Given the description of an element on the screen output the (x, y) to click on. 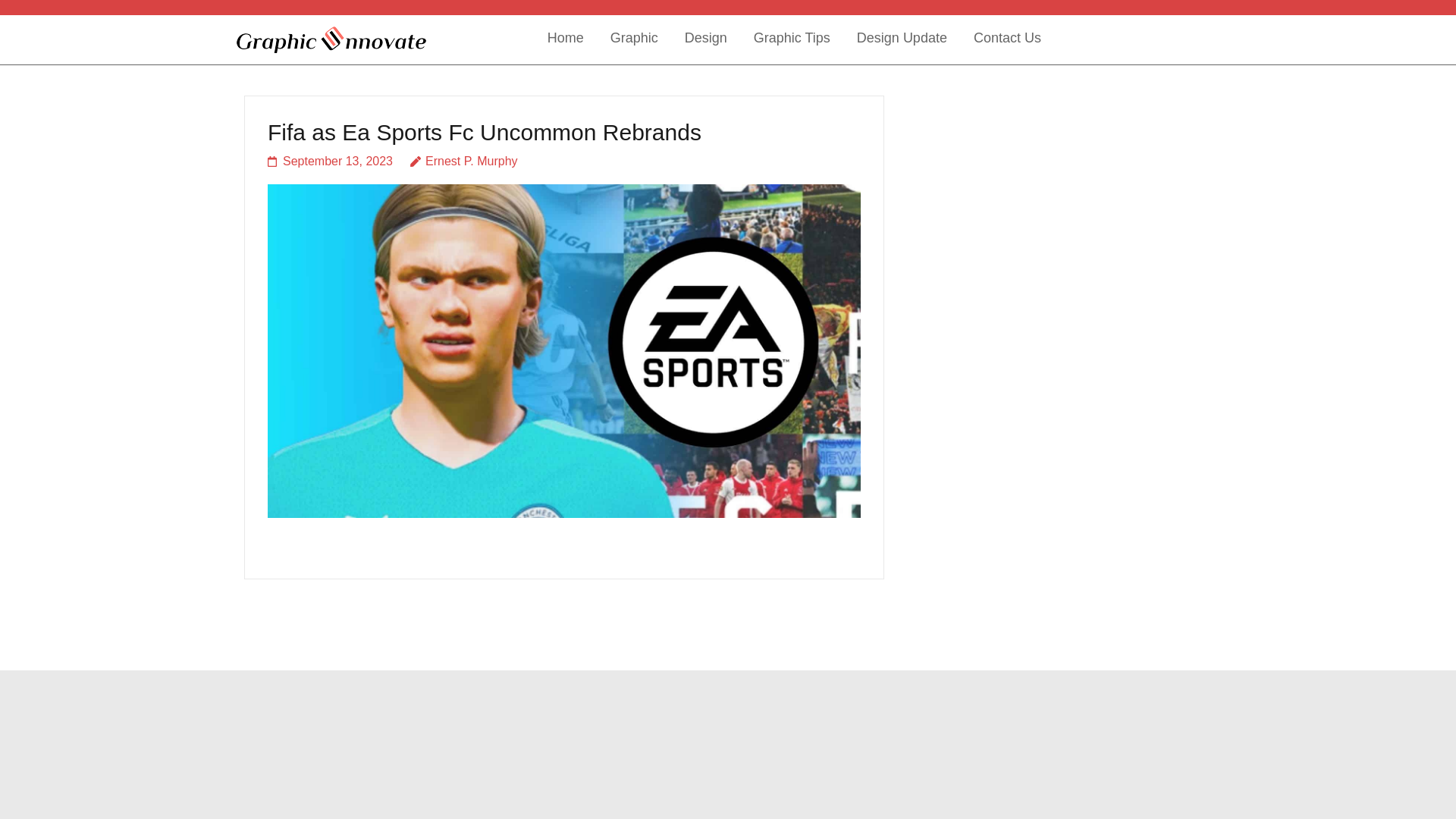
Contact Us (1007, 39)
Graphic Tips (791, 39)
Design Update (902, 39)
Ernest P. Murphy (464, 160)
Graphic (634, 39)
September 13, 2023 (330, 160)
Home (565, 39)
Design (705, 39)
